Given the description of an element on the screen output the (x, y) to click on. 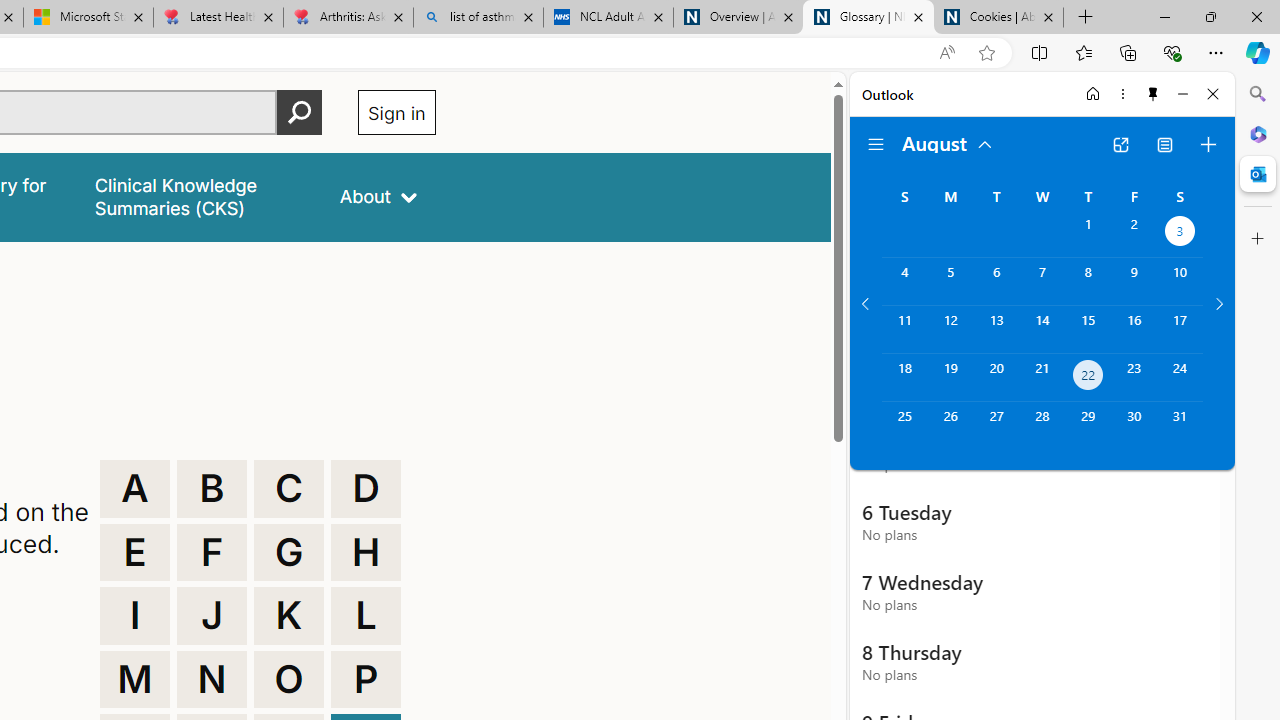
O (289, 679)
list of asthma inhalers uk - Search (477, 17)
Perform search (299, 112)
J (212, 615)
F (212, 551)
N (212, 679)
Thursday, August 1, 2024.  (1088, 233)
Friday, August 2, 2024.  (1134, 233)
M (134, 679)
Thursday, August 29, 2024.  (1088, 425)
Arthritis: Ask Health Professionals (348, 17)
